Given the description of an element on the screen output the (x, y) to click on. 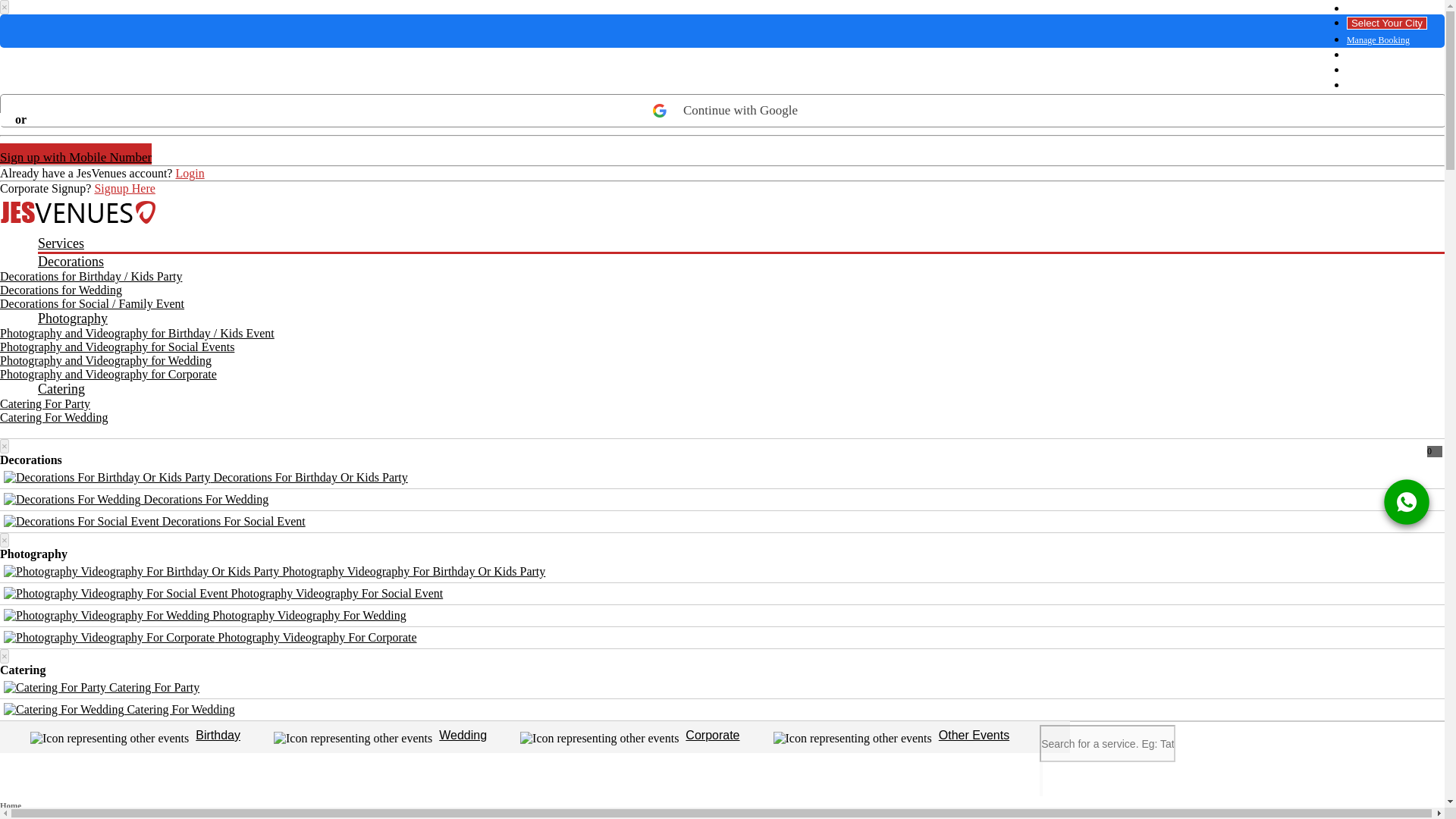
Decorations for Wedding (61, 289)
Corporate Signup JesVenues (124, 187)
Photography and Videography for Corporate (108, 373)
Services (740, 244)
Login (1386, 55)
JesVenues (722, 211)
Login JesVenues (188, 173)
JesVenues (77, 211)
Manage Booking JesVenues (1386, 40)
Decorations for Wedding (61, 289)
Catering For Party (45, 403)
Select Your City (1386, 22)
Sign up with Mobile Number (75, 153)
Services (740, 244)
